Given the description of an element on the screen output the (x, y) to click on. 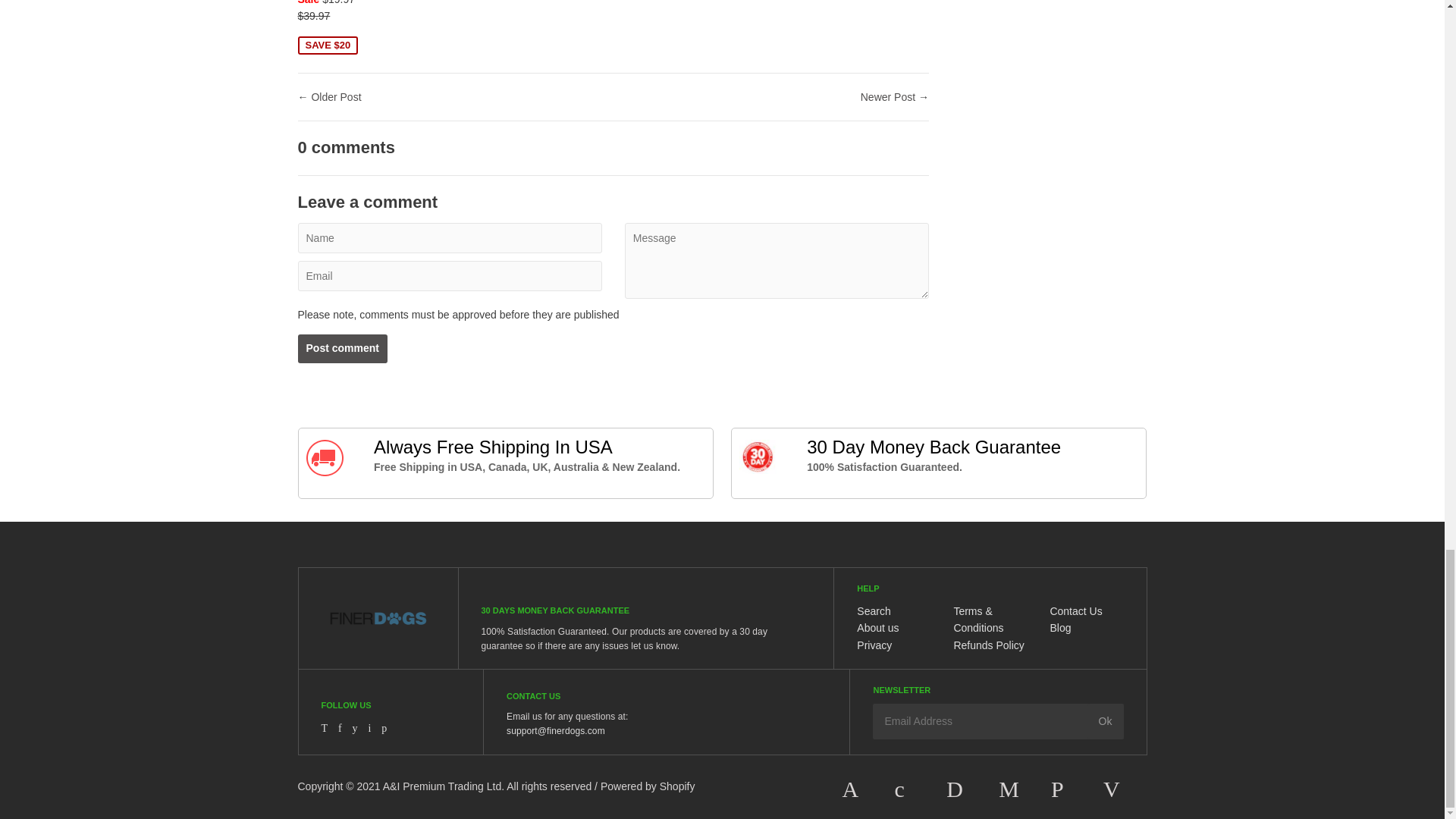
Finer Dogs on Facebook (339, 727)
Finer Dogs on Instagram (369, 727)
Post comment (342, 348)
Finer Dogs on Twitter (325, 727)
Finer Dogs on Pinterest (384, 727)
Ok (1105, 720)
Finer Dogs on Youtube (355, 727)
